Given the description of an element on the screen output the (x, y) to click on. 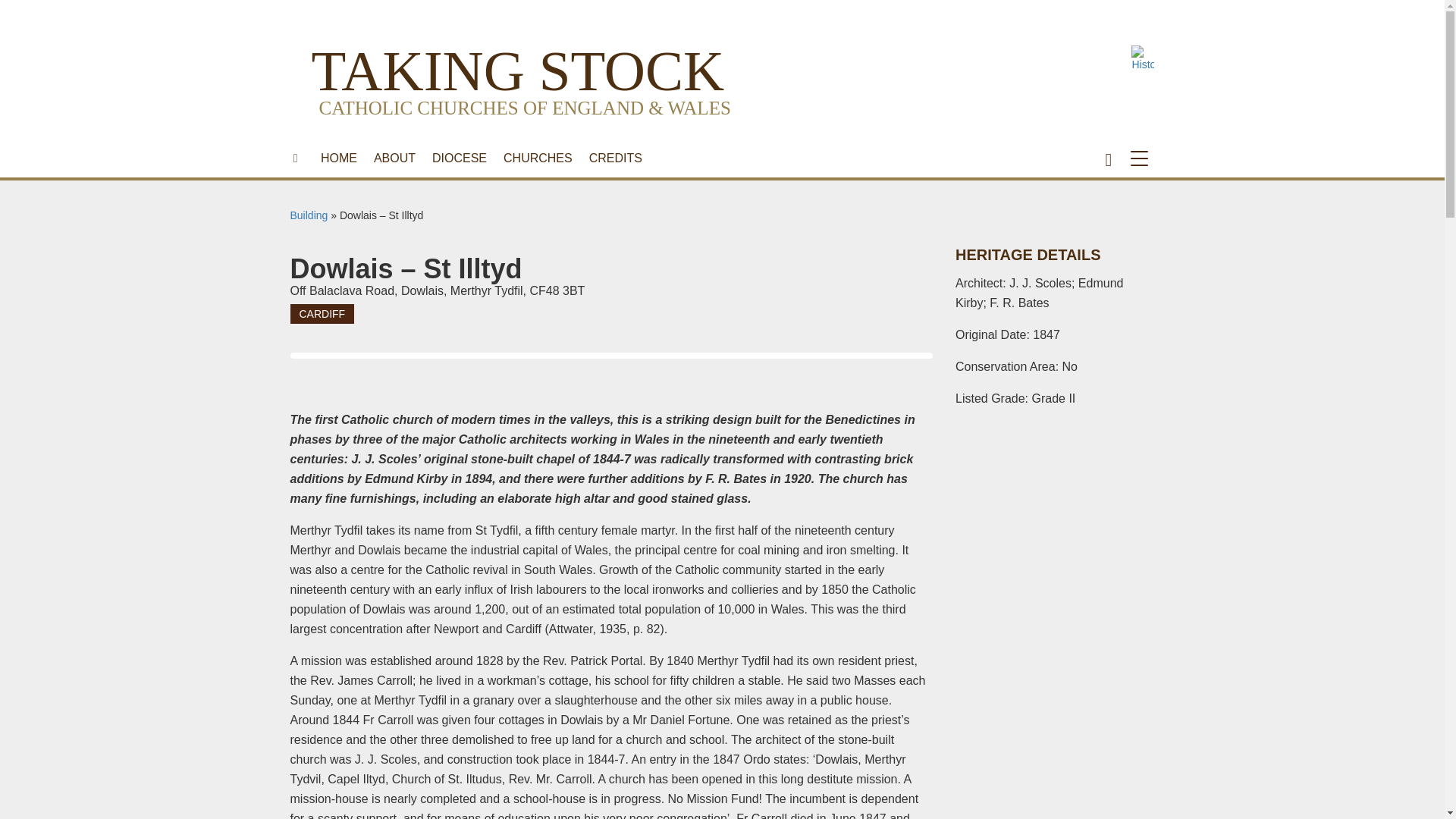
TOGGLE NAVIGATION (1142, 157)
ABOUT (394, 158)
Building (308, 215)
DIOCESE (459, 158)
CHURCHES (537, 158)
CARDIFF (321, 313)
CREDITS (615, 158)
HOME (339, 158)
